Given the description of an element on the screen output the (x, y) to click on. 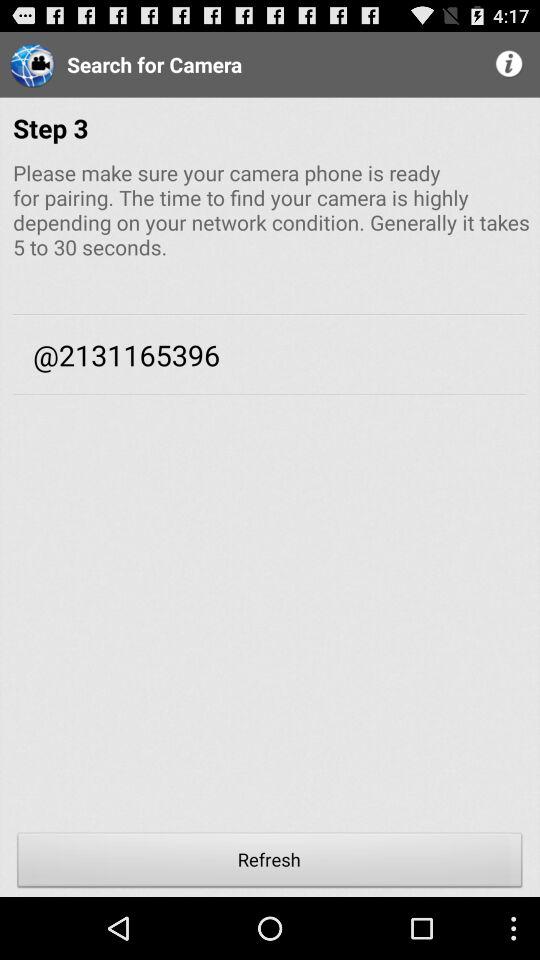
more info (509, 63)
